Given the description of an element on the screen output the (x, y) to click on. 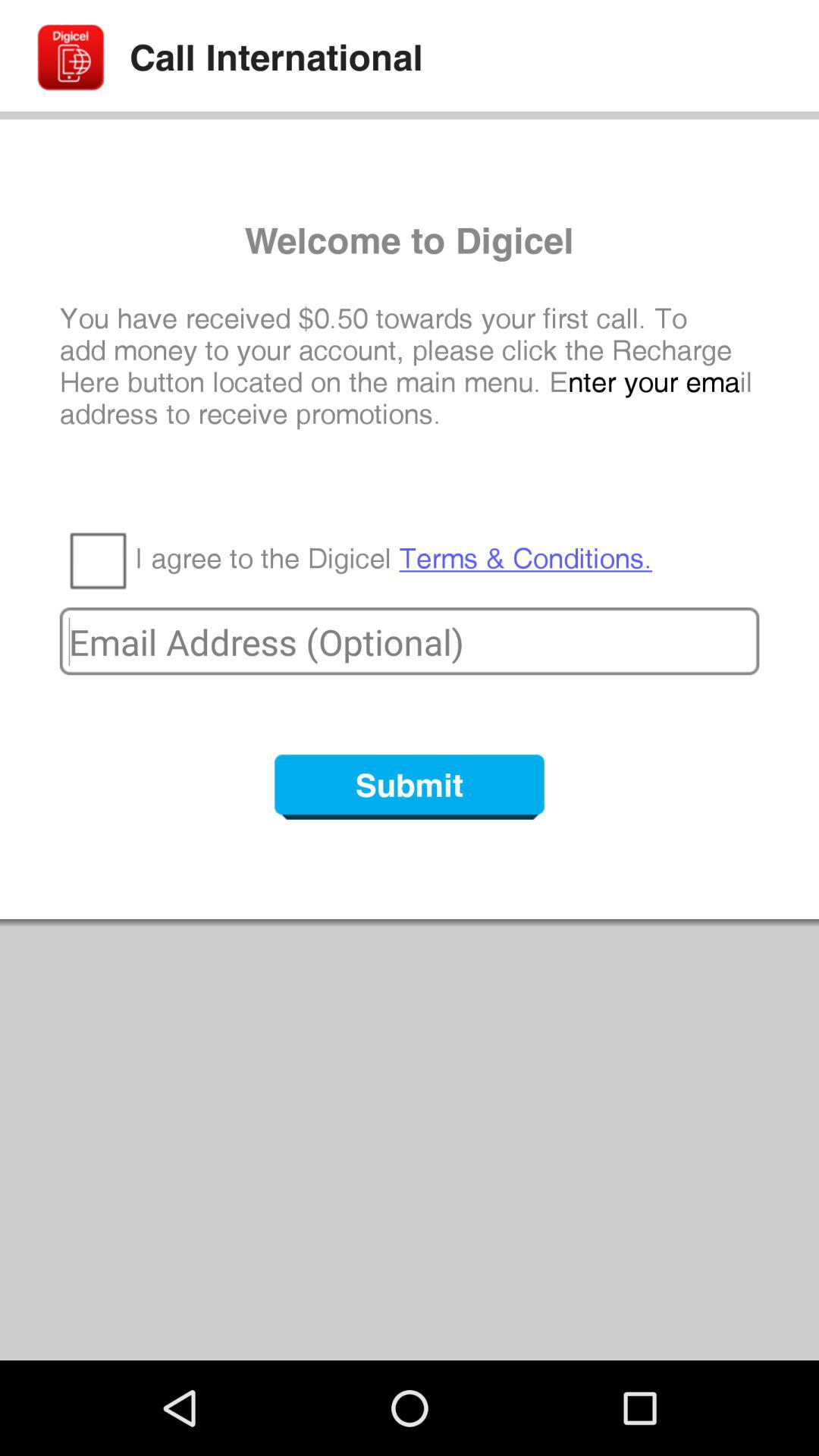
check the box for agreement (97, 559)
